Given the description of an element on the screen output the (x, y) to click on. 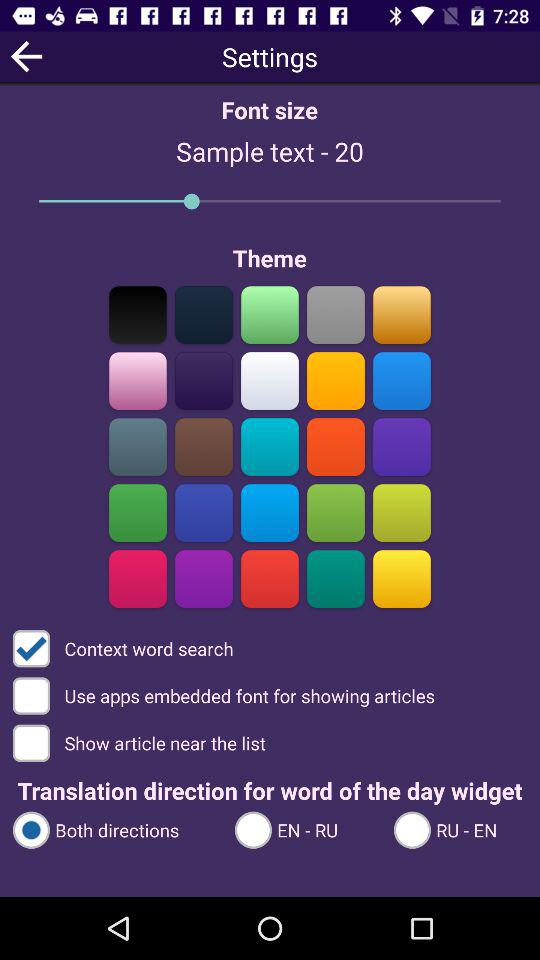
select red color (269, 578)
